Given the description of an element on the screen output the (x, y) to click on. 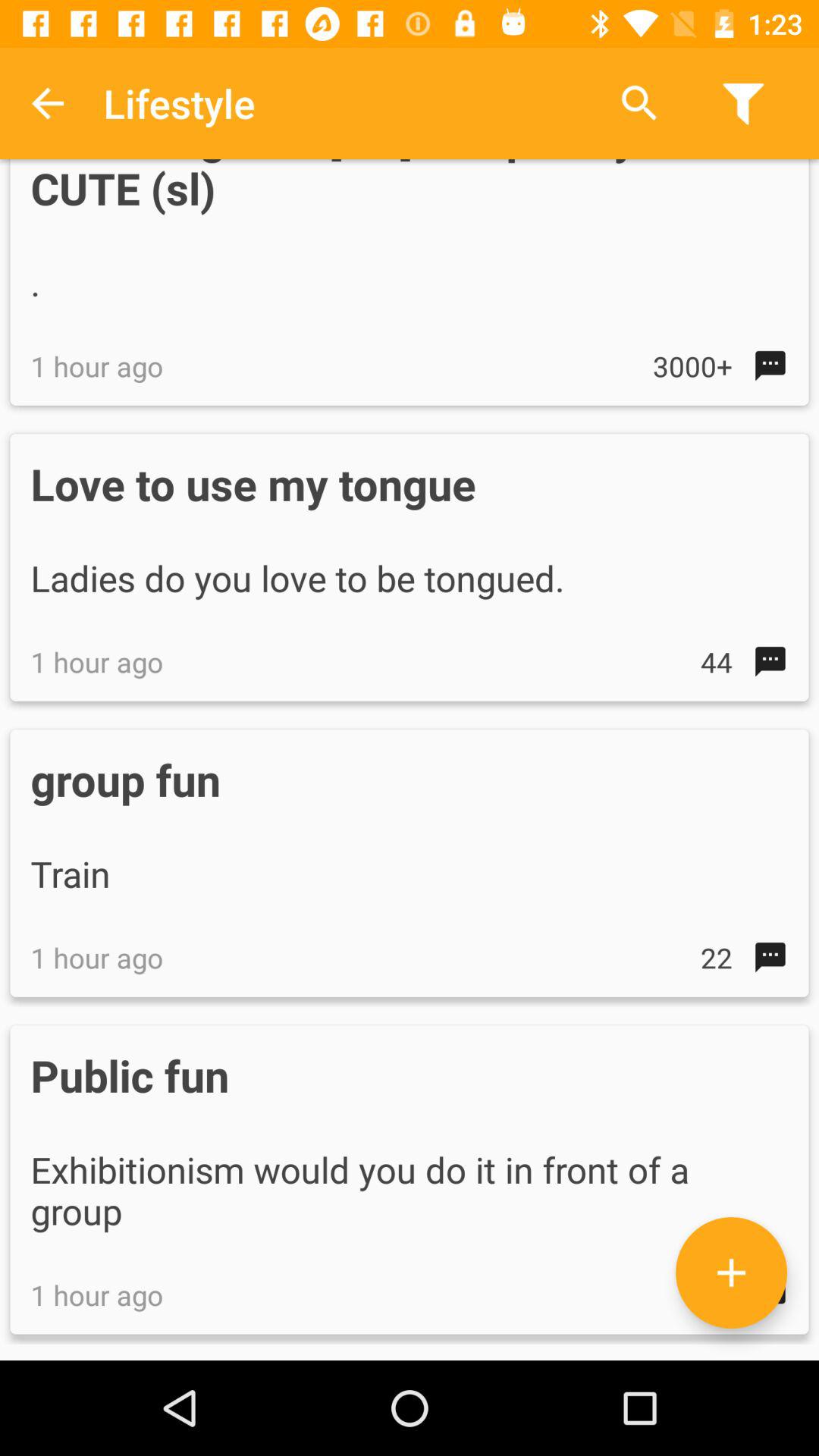
click on bottom of the right corner text icon (731, 1273)
